Given the description of an element on the screen output the (x, y) to click on. 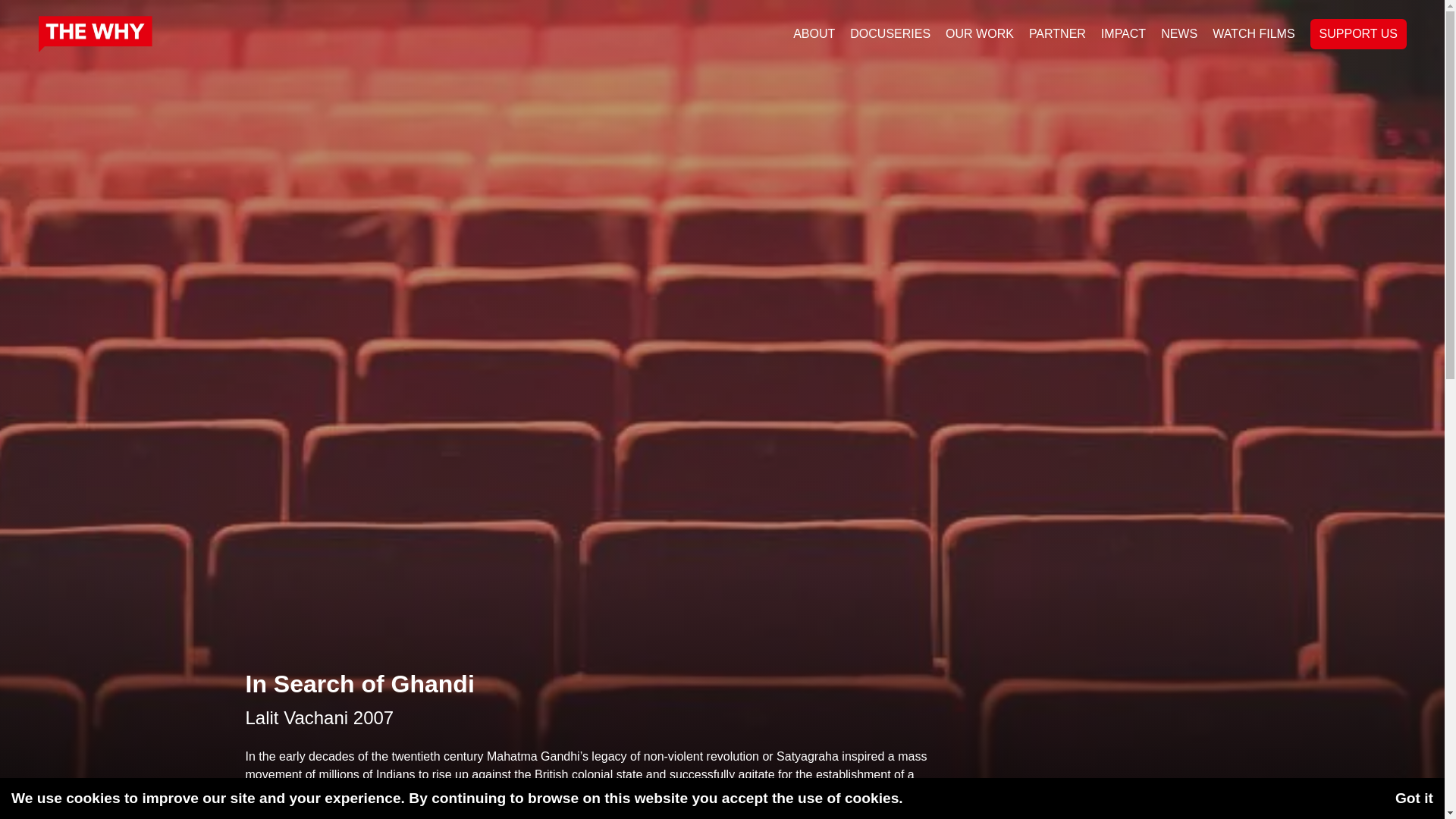
PARTNER (1057, 34)
ABOUT (814, 34)
NEWS (1179, 33)
OUR WORK (979, 34)
IMPACT (1123, 33)
DOCUSERIES (890, 34)
